Given the description of an element on the screen output the (x, y) to click on. 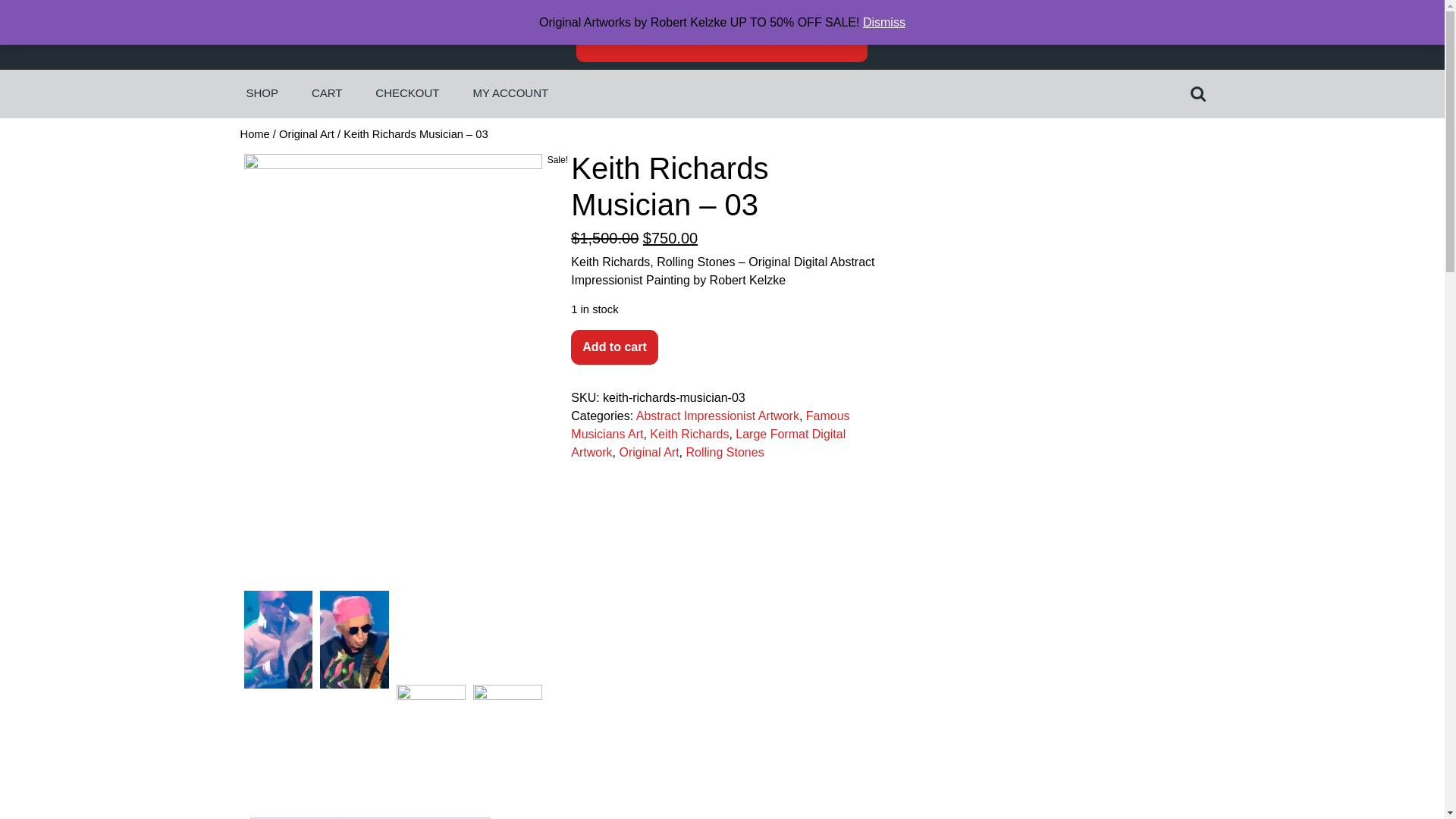
Add to cart (614, 347)
Search (1200, 93)
SHOP (262, 93)
Rolling Stones (723, 451)
Original Art (306, 133)
Large Format Digital Artwork (707, 442)
Search (1200, 93)
Keith Richards (689, 433)
CHECKOUT (406, 93)
Abstract Impressionist Artwork (717, 415)
